Given the description of an element on the screen output the (x, y) to click on. 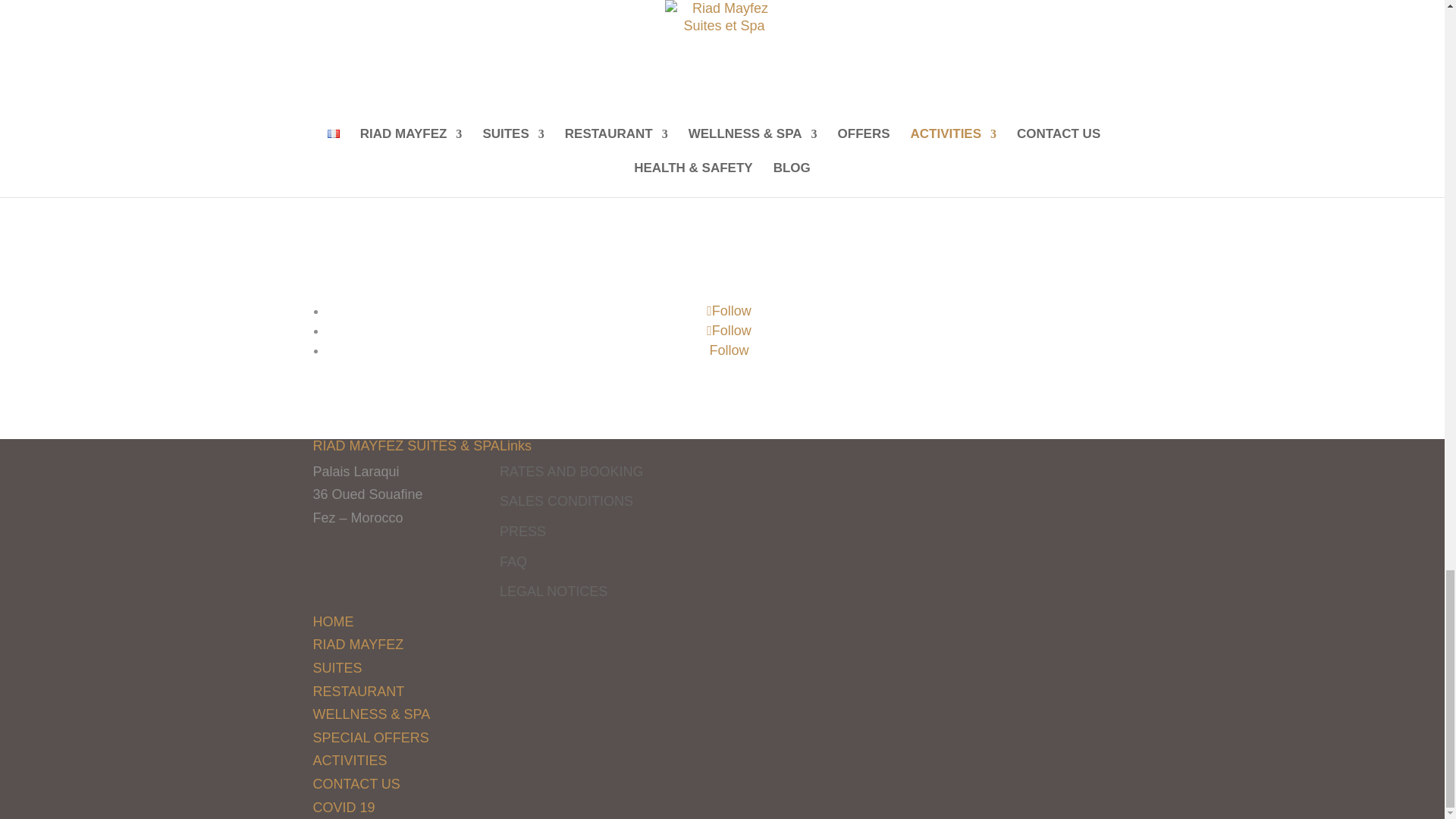
Follow on Instagram (728, 330)
Follow on LinkedIn (728, 350)
Follow on Facebook (728, 310)
